Given the description of an element on the screen output the (x, y) to click on. 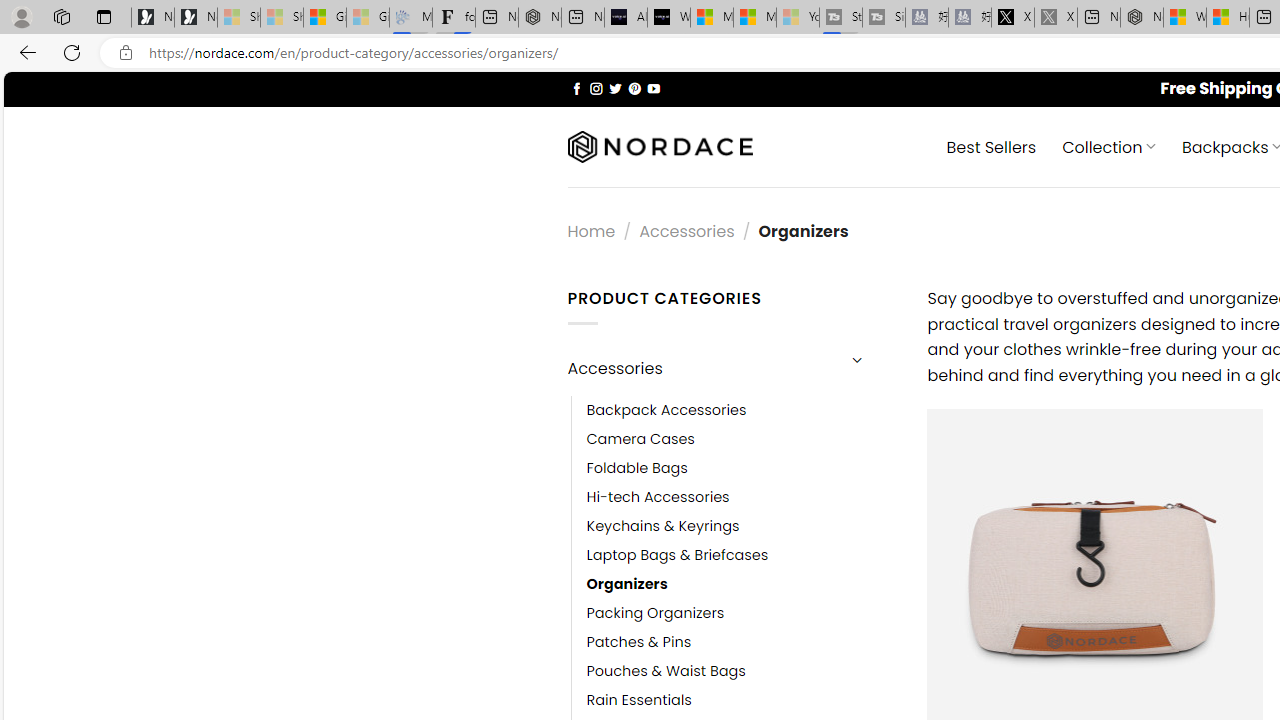
AI Voice Changer for PC and Mac - Voice.ai (625, 17)
Rain Essentials (742, 700)
Rain Essentials (639, 700)
Streaming Coverage | T3 - Sleeping (840, 17)
 Best Sellers (990, 146)
Pouches & Waist Bags (742, 671)
Foldable Bags (742, 467)
Huge shark washes ashore at New York City beach | Watch (1228, 17)
Foldable Bags (637, 467)
Personal Profile (21, 16)
Patches & Pins (742, 642)
Microsoft Start (754, 17)
